Given the description of an element on the screen output the (x, y) to click on. 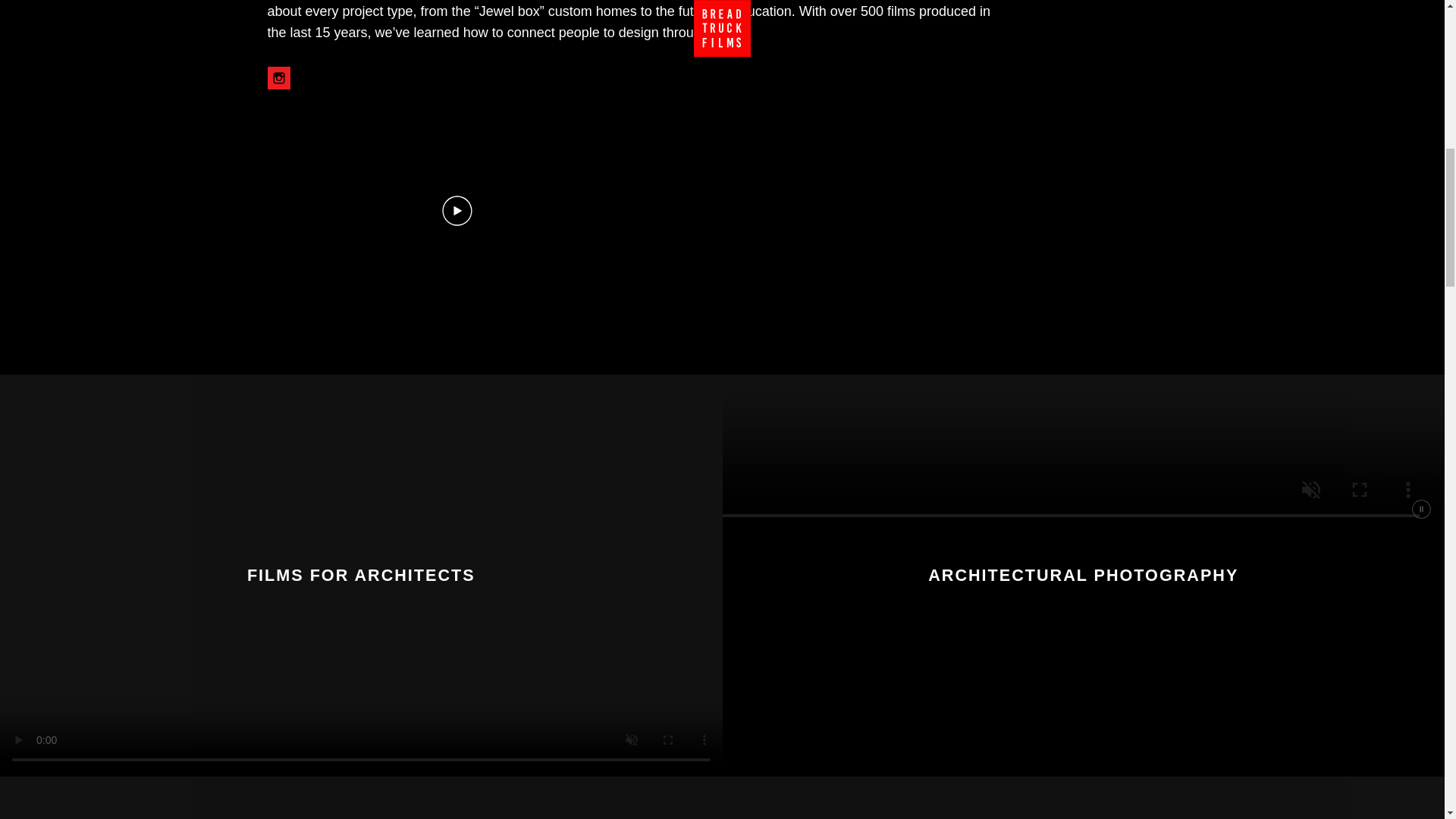
VISION VIDEOS FOR DEVELOPERS (361, 797)
